Given the description of an element on the screen output the (x, y) to click on. 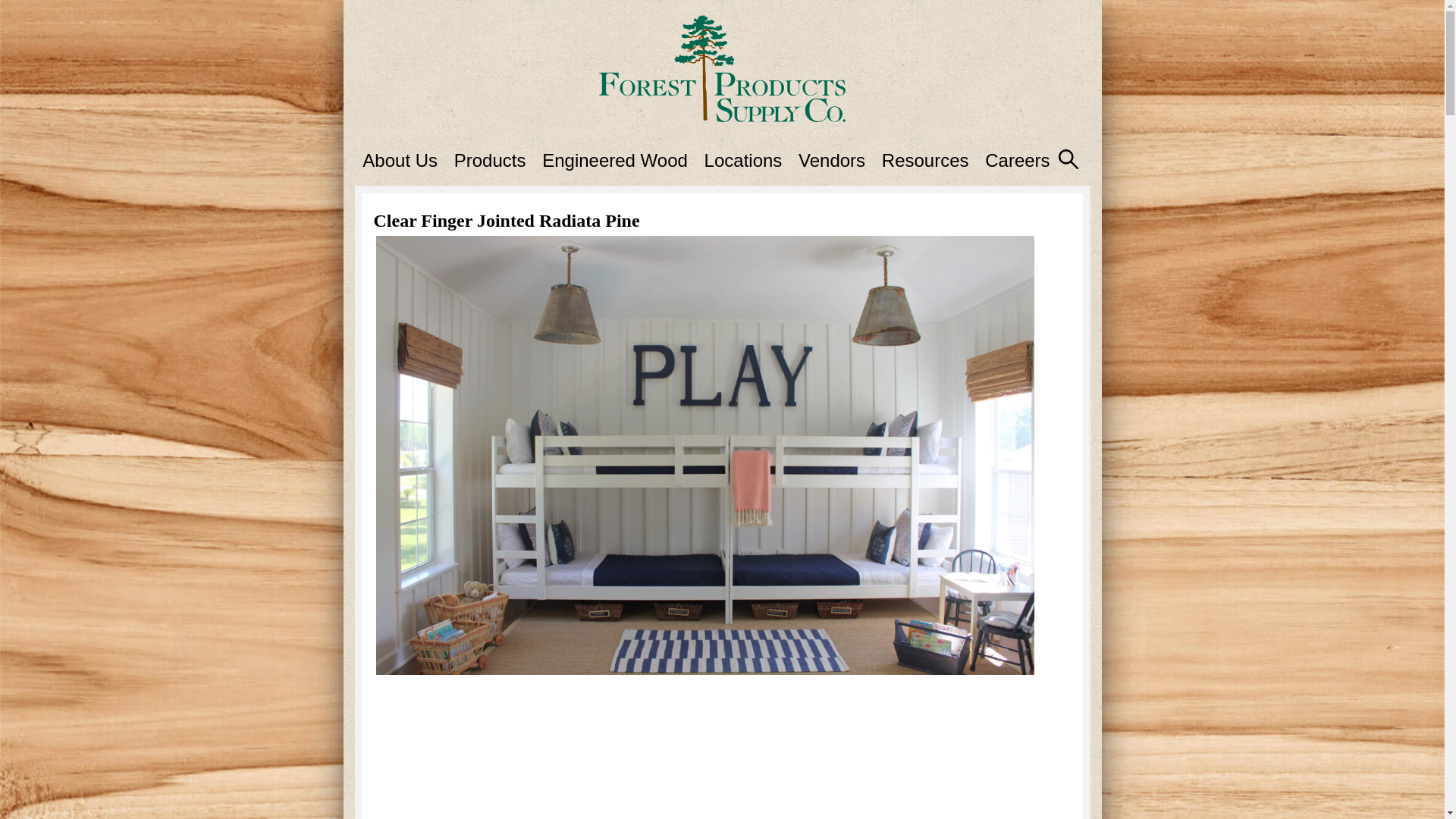
About Us (400, 159)
Resources (925, 159)
Products (489, 159)
Careers (1017, 159)
Engineered Wood (614, 159)
Locations (743, 159)
Vendors (830, 159)
